Given the description of an element on the screen output the (x, y) to click on. 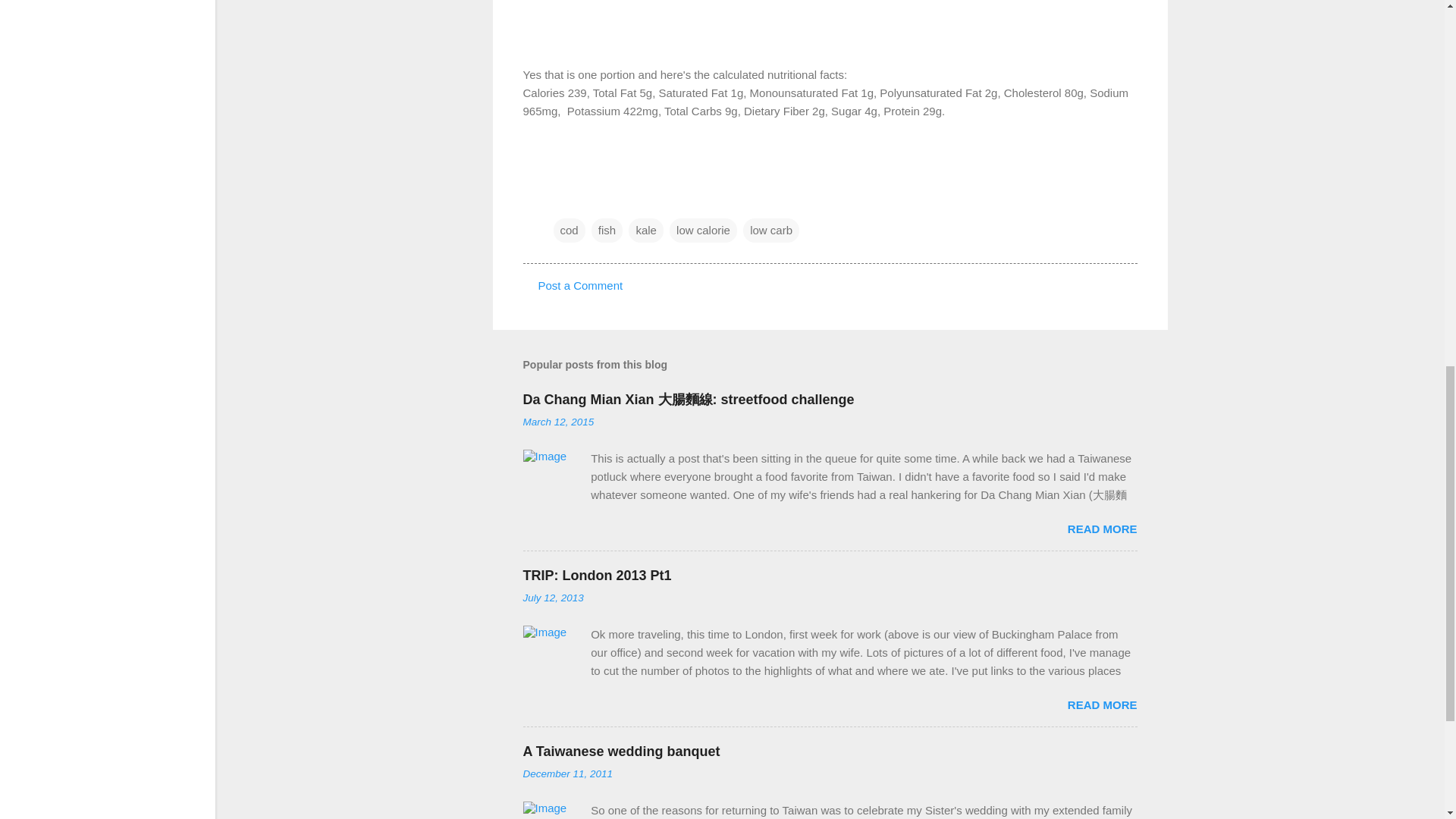
READ MORE (1102, 528)
March 12, 2015 (558, 421)
TRIP: London 2013 Pt1 (596, 575)
low carb (770, 230)
kale (645, 230)
Post a Comment (580, 285)
December 11, 2011 (567, 773)
A Taiwanese wedding banquet (621, 751)
fish (607, 230)
READ MORE (1102, 704)
low calorie (702, 230)
Email Post (562, 198)
July 12, 2013 (552, 597)
permanent link (558, 421)
cod (569, 230)
